Given the description of an element on the screen output the (x, y) to click on. 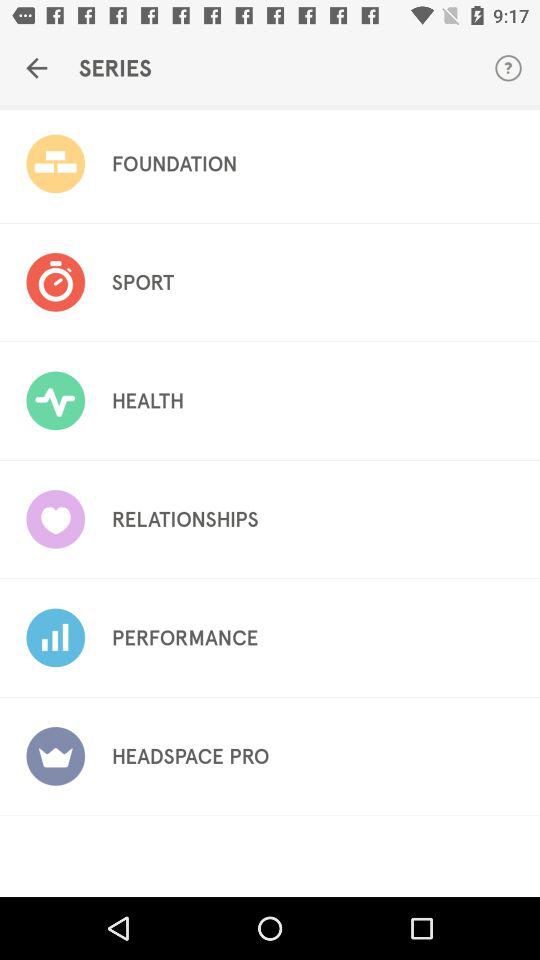
choose icon to the right of series (508, 67)
